Given the description of an element on the screen output the (x, y) to click on. 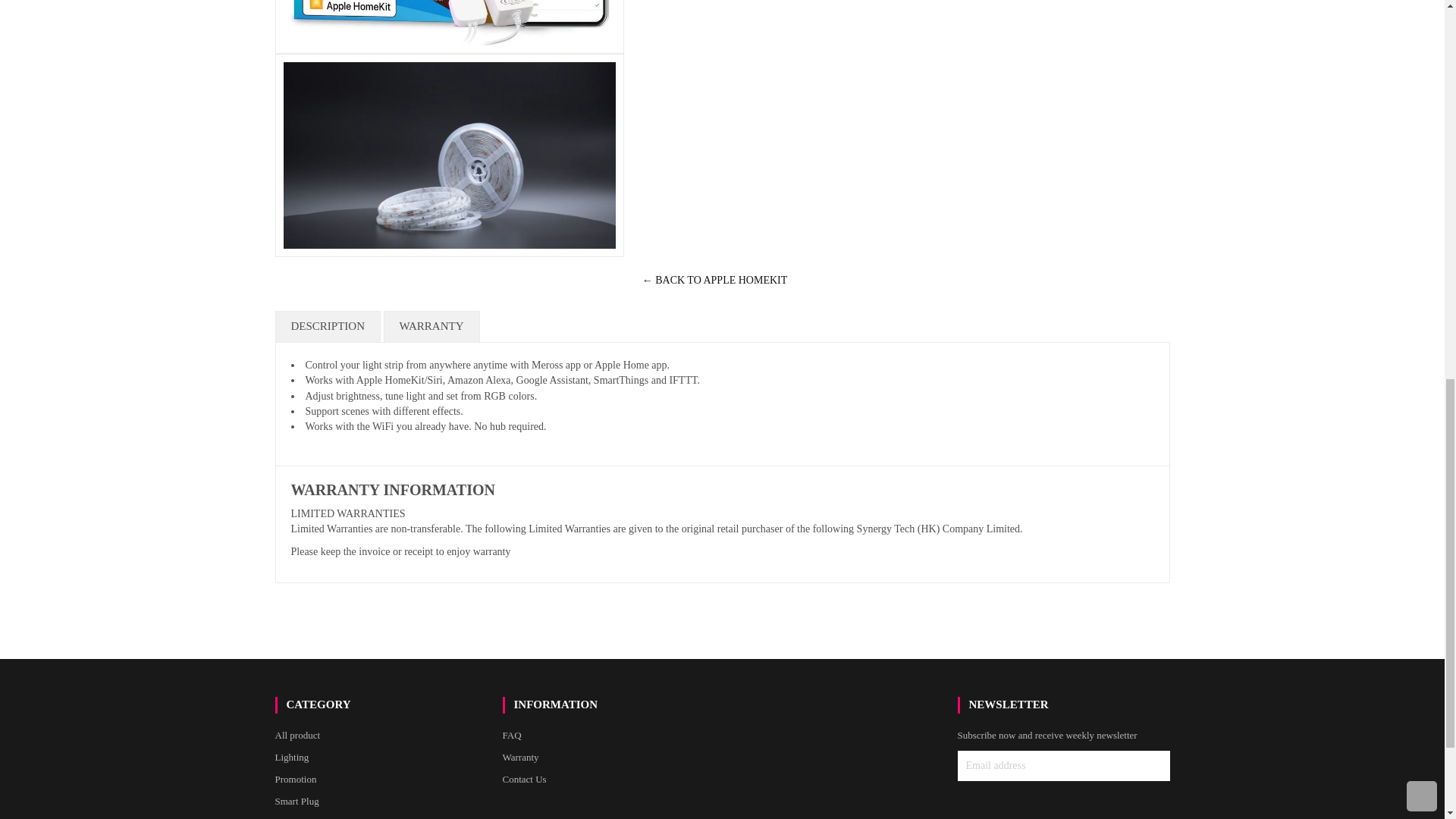
All product (297, 735)
Warranty (520, 756)
FAQ (511, 735)
Smart Plug (296, 800)
Smart Air Purifier (310, 818)
Promotion (295, 778)
Contact Us (524, 778)
DESCRIPTION (327, 327)
Lighting (291, 756)
WARRANTY (432, 327)
